Given the description of an element on the screen output the (x, y) to click on. 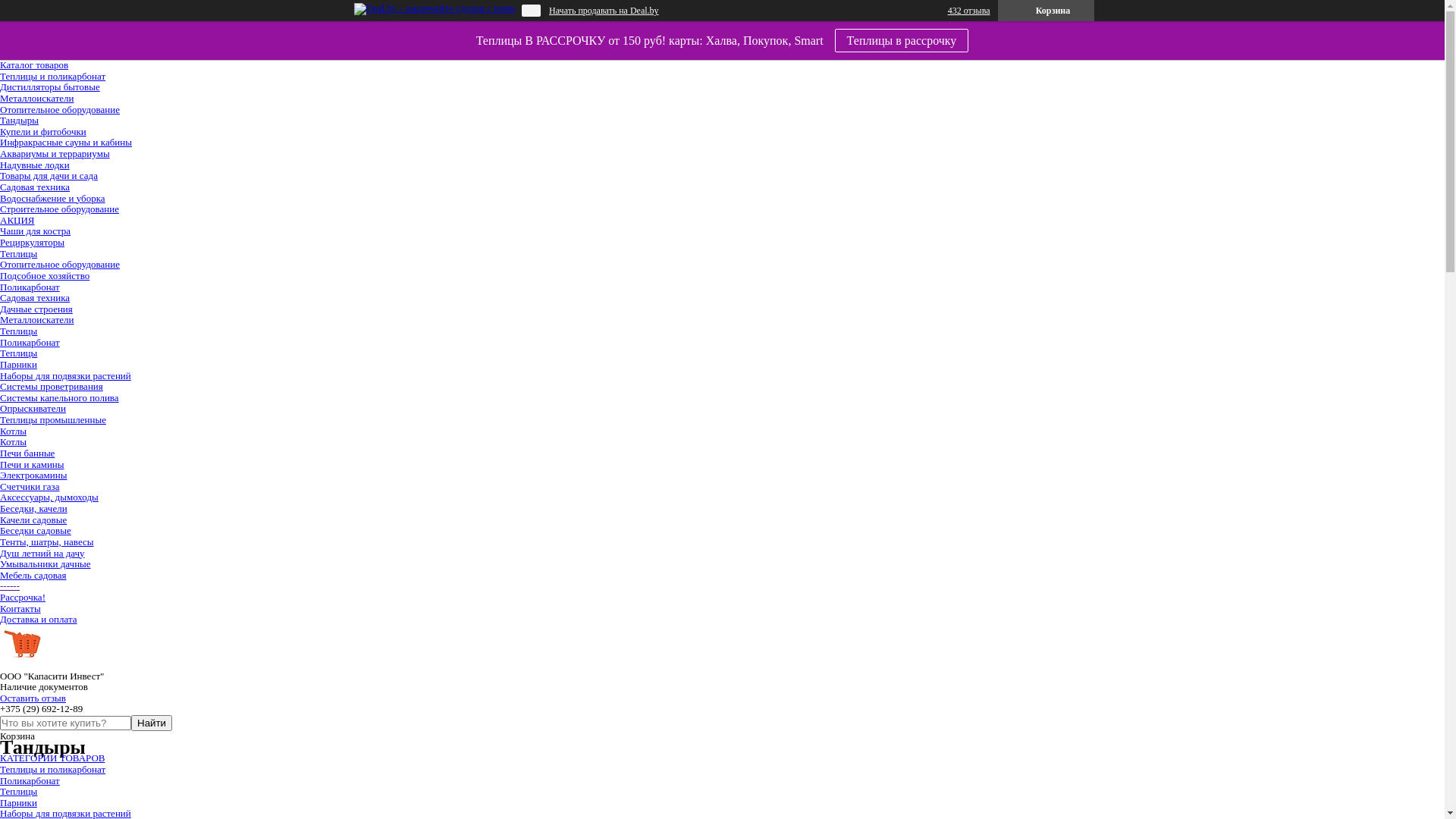
------ Element type: text (9, 585)
